Given the description of an element on the screen output the (x, y) to click on. 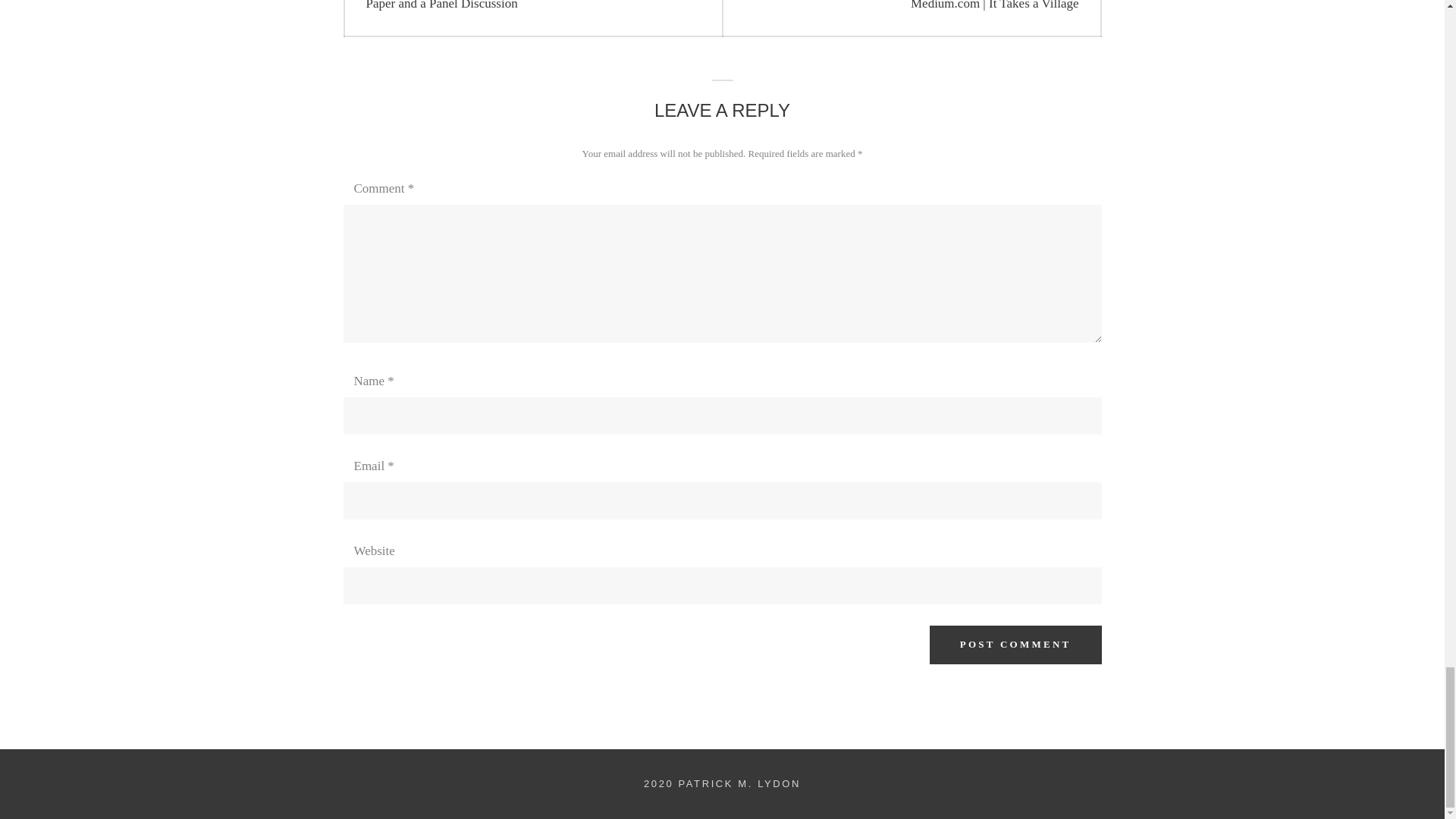
Post Comment (1016, 644)
Post Comment (1016, 644)
